Given the description of an element on the screen output the (x, y) to click on. 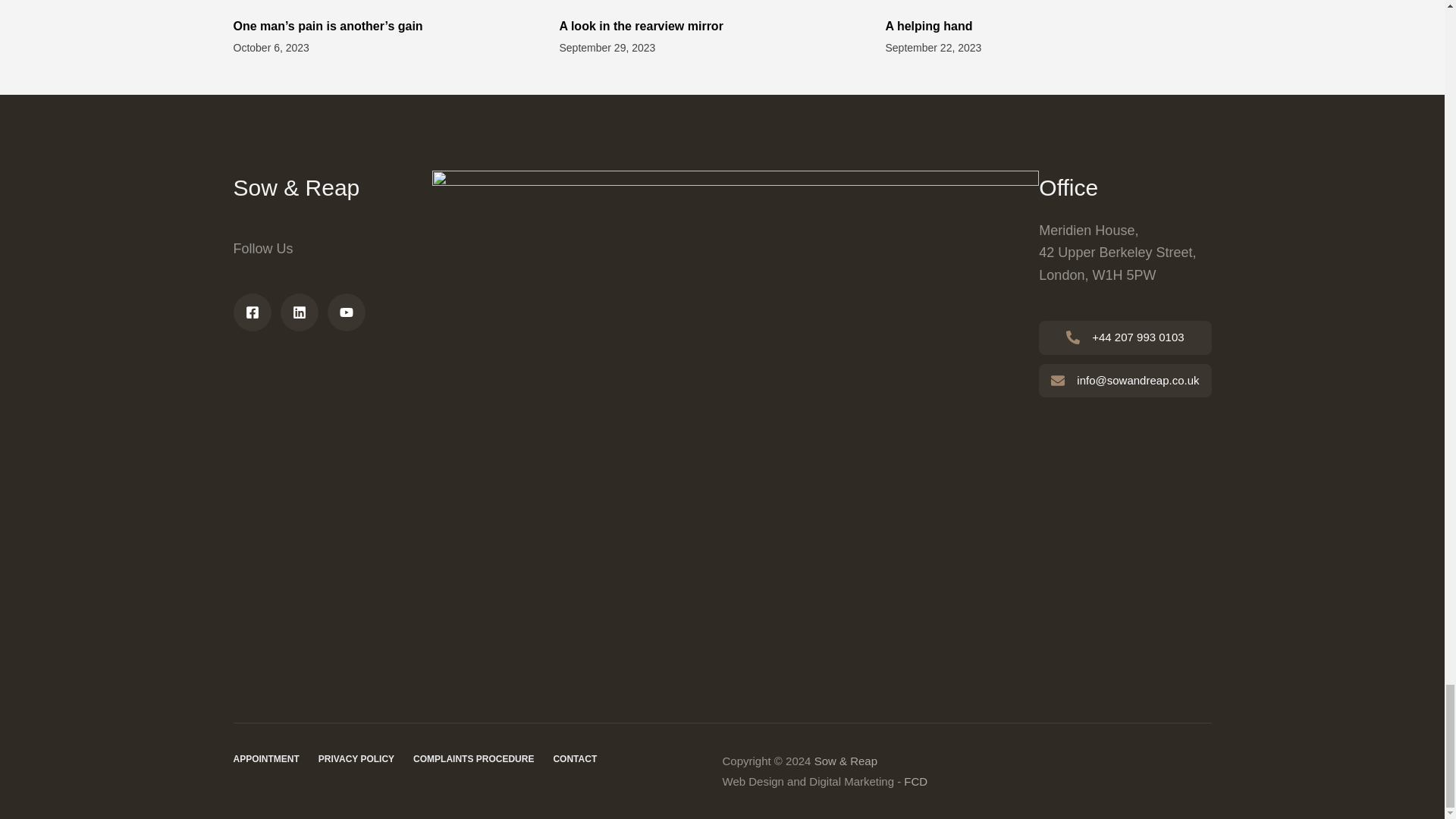
A helping hand (928, 25)
A look in the rearview mirror   (644, 25)
